Given the description of an element on the screen output the (x, y) to click on. 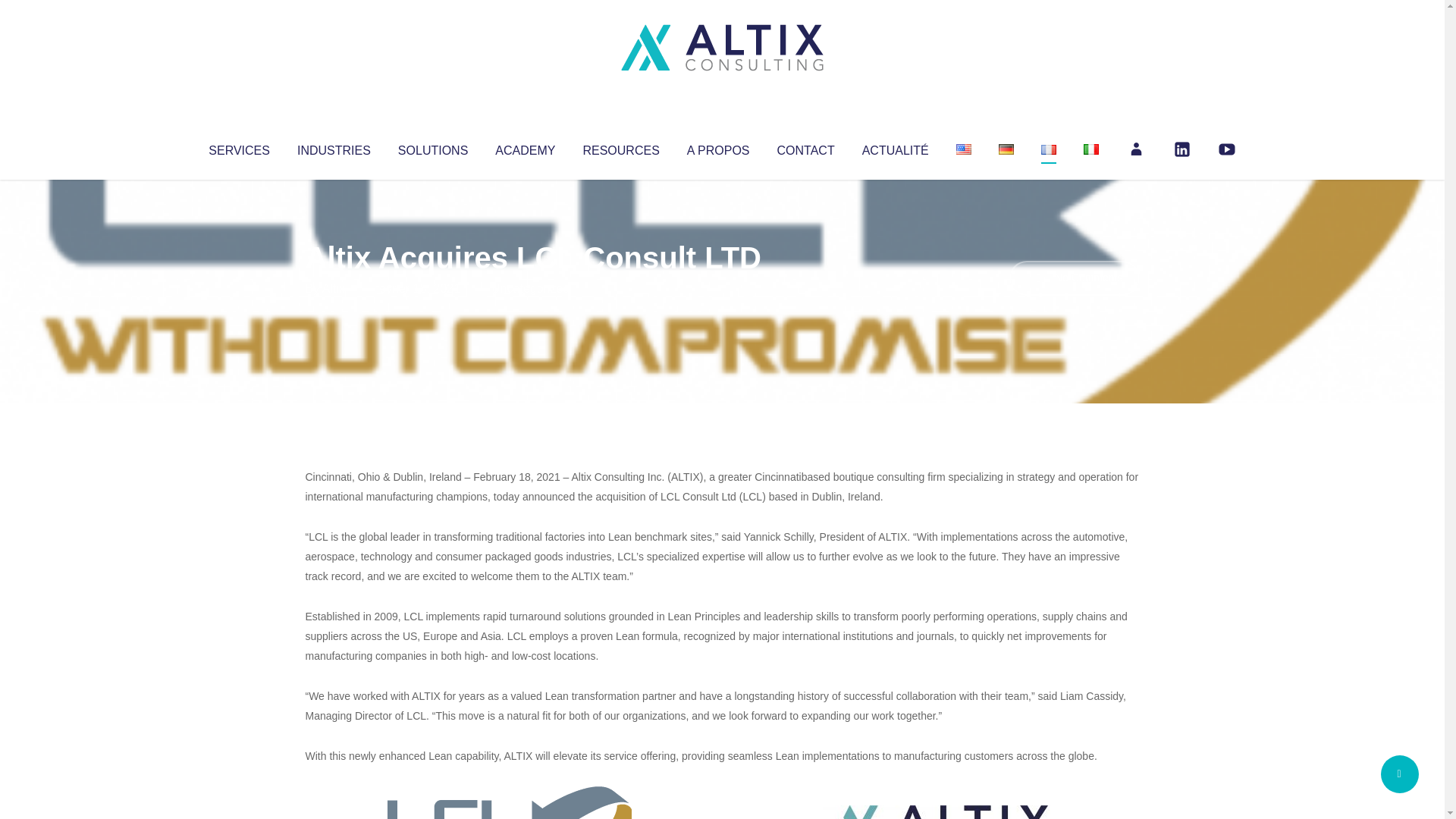
RESOURCES (620, 146)
SOLUTIONS (432, 146)
Altix (333, 287)
A PROPOS (718, 146)
Articles par Altix (333, 287)
SERVICES (238, 146)
INDUSTRIES (334, 146)
Uncategorized (530, 287)
No Comments (1073, 278)
ACADEMY (524, 146)
